Given the description of an element on the screen output the (x, y) to click on. 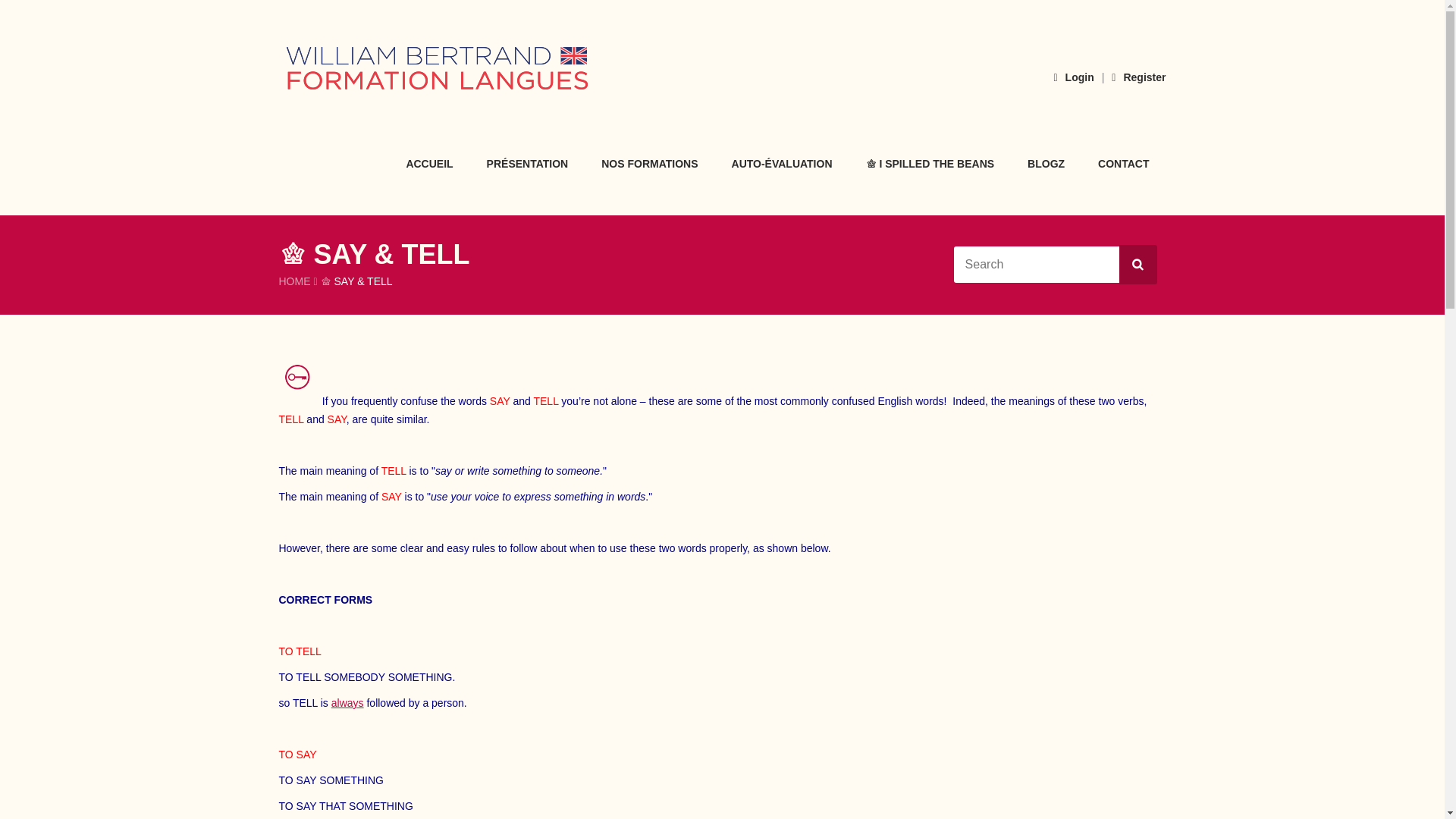
NOS FORMATIONS (649, 162)
Login (1072, 77)
Register (1139, 77)
ACCUEIL (428, 162)
Register (1139, 77)
Login (1072, 77)
William Bertrand Formation Langues (436, 68)
